Given the description of an element on the screen output the (x, y) to click on. 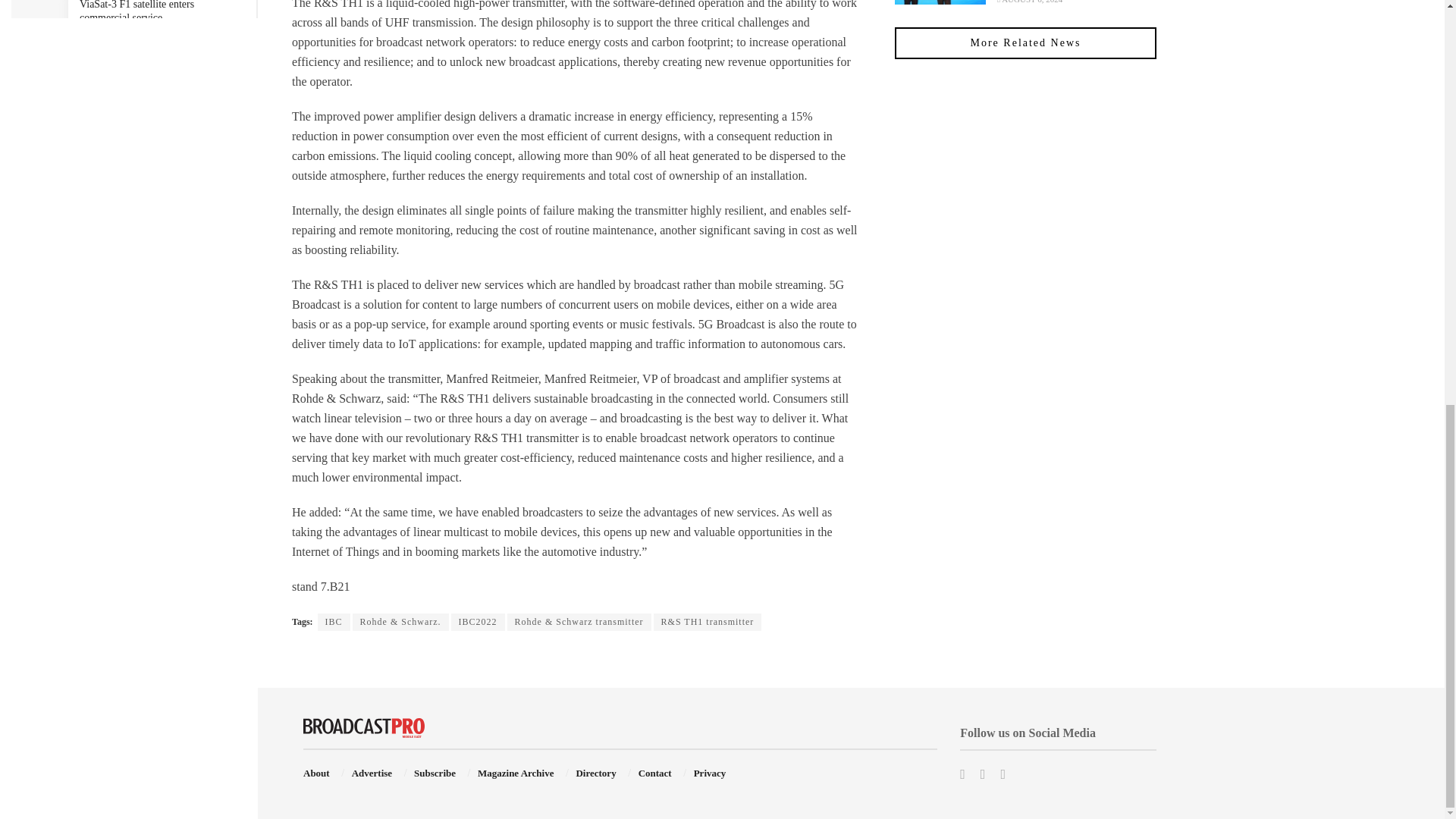
ViaSat-3 F1 satellite enters commercial service (136, 11)
